Given the description of an element on the screen output the (x, y) to click on. 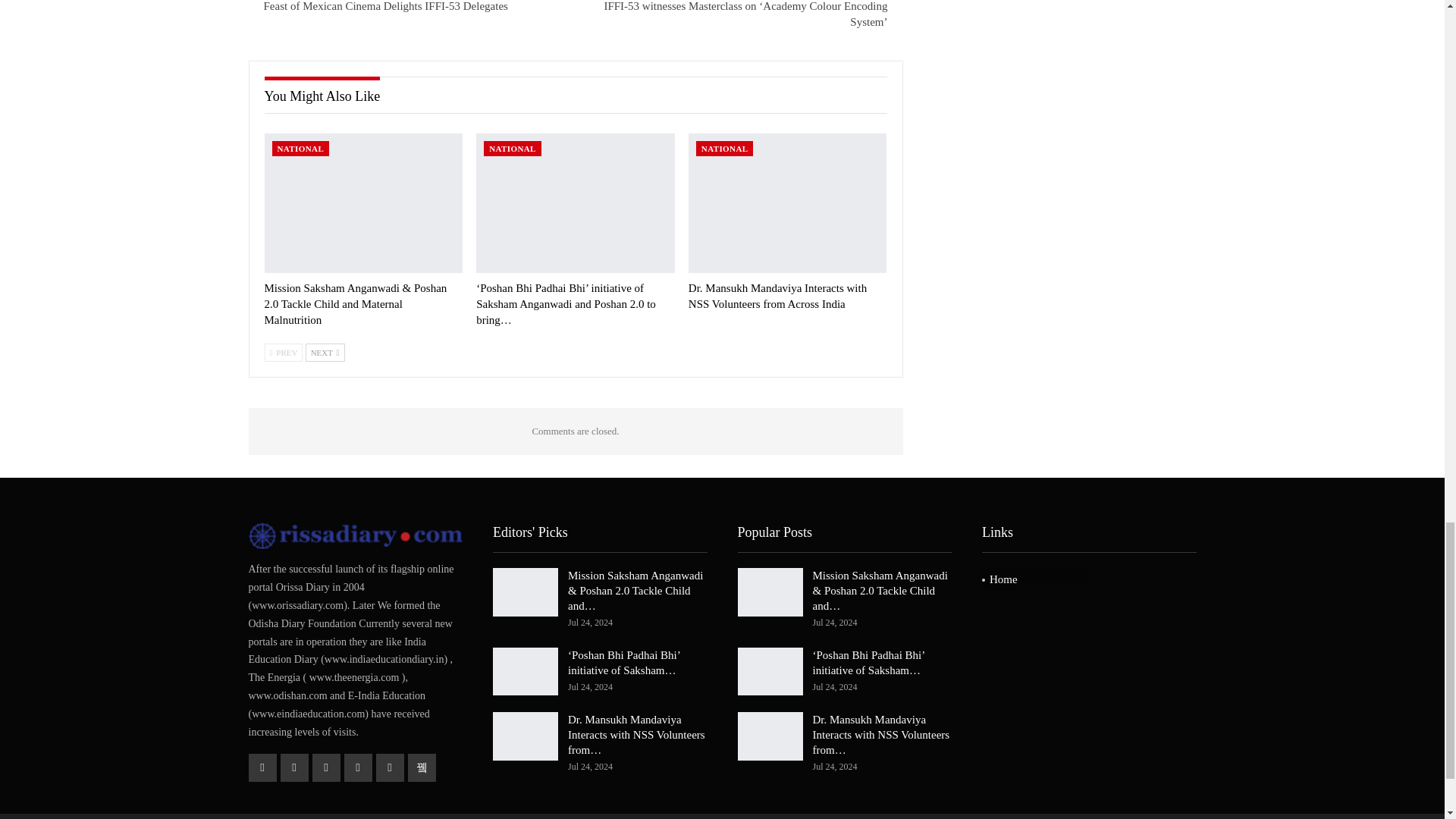
Next (325, 352)
Previous (282, 352)
